Given the description of an element on the screen output the (x, y) to click on. 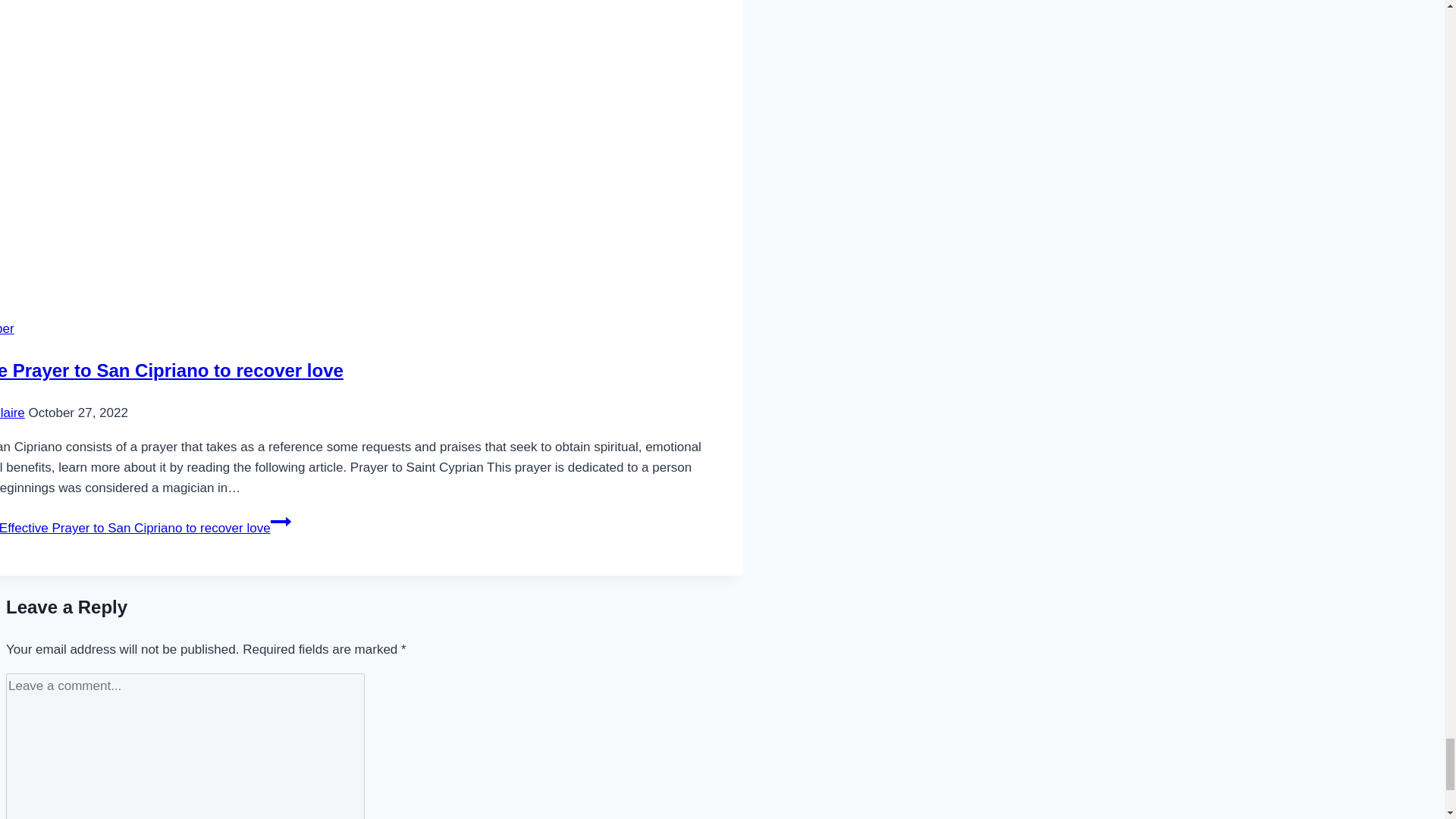
Continue (280, 521)
